Given the description of an element on the screen output the (x, y) to click on. 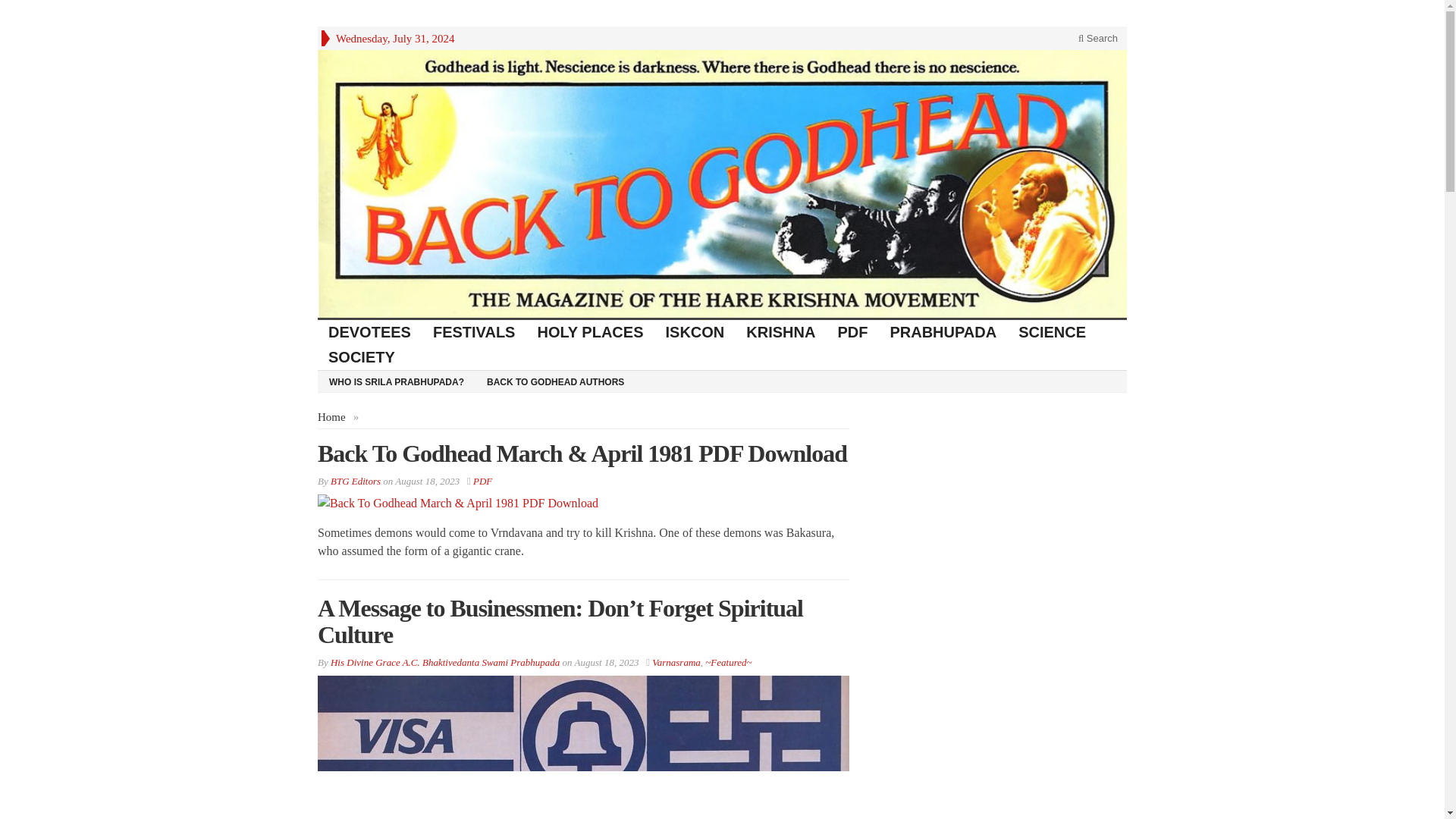
KRISHNA (781, 332)
Search (1097, 37)
ISKCON (695, 332)
DEVOTEES (369, 332)
FESTIVALS (474, 332)
HOLY PLACES (589, 332)
